Given the description of an element on the screen output the (x, y) to click on. 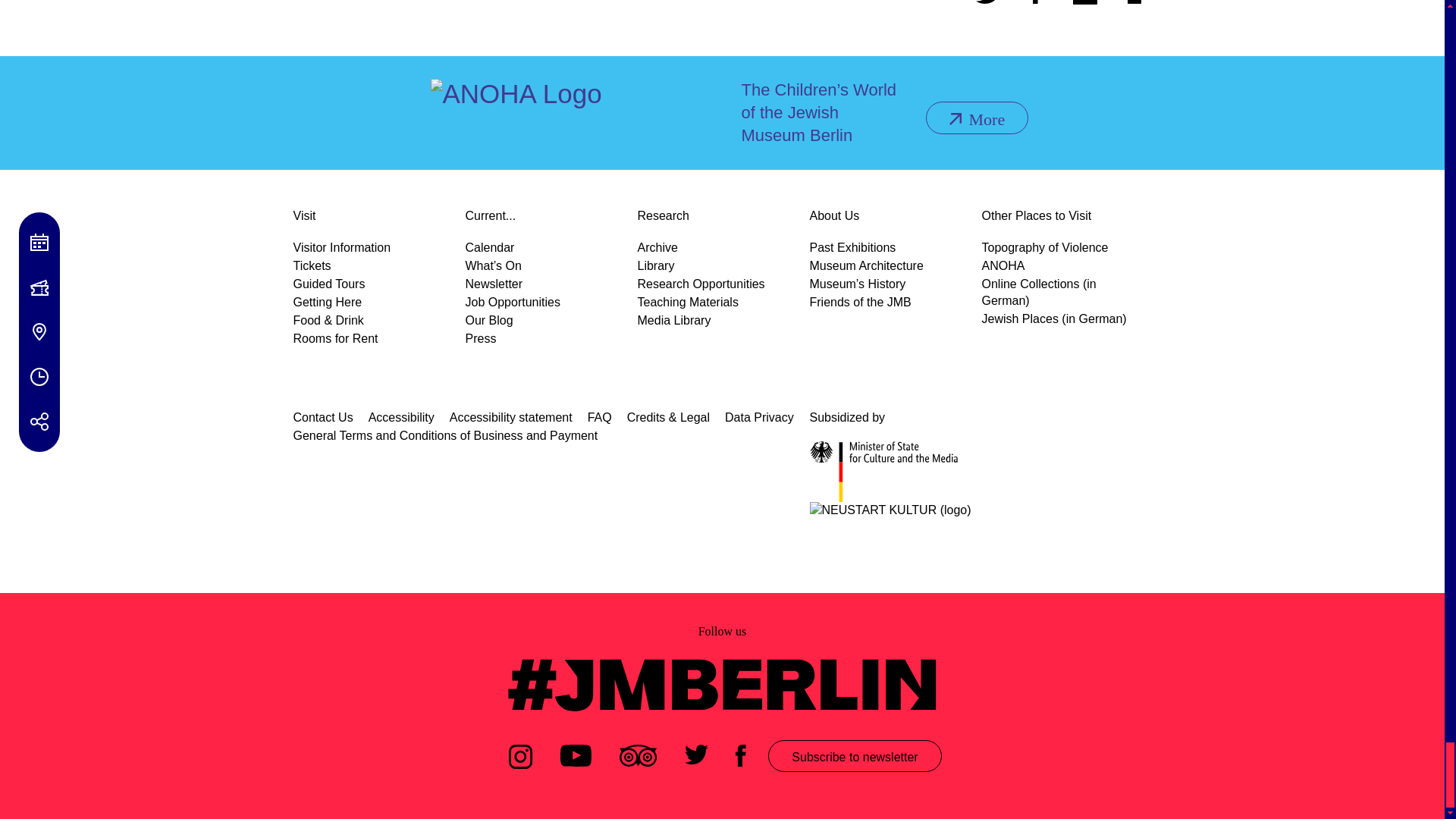
Share on Facebook (1035, 4)
Share on Twitter (989, 4)
Contact us (1138, 4)
Subscribe to the newsletter (1083, 4)
